Given the description of an element on the screen output the (x, y) to click on. 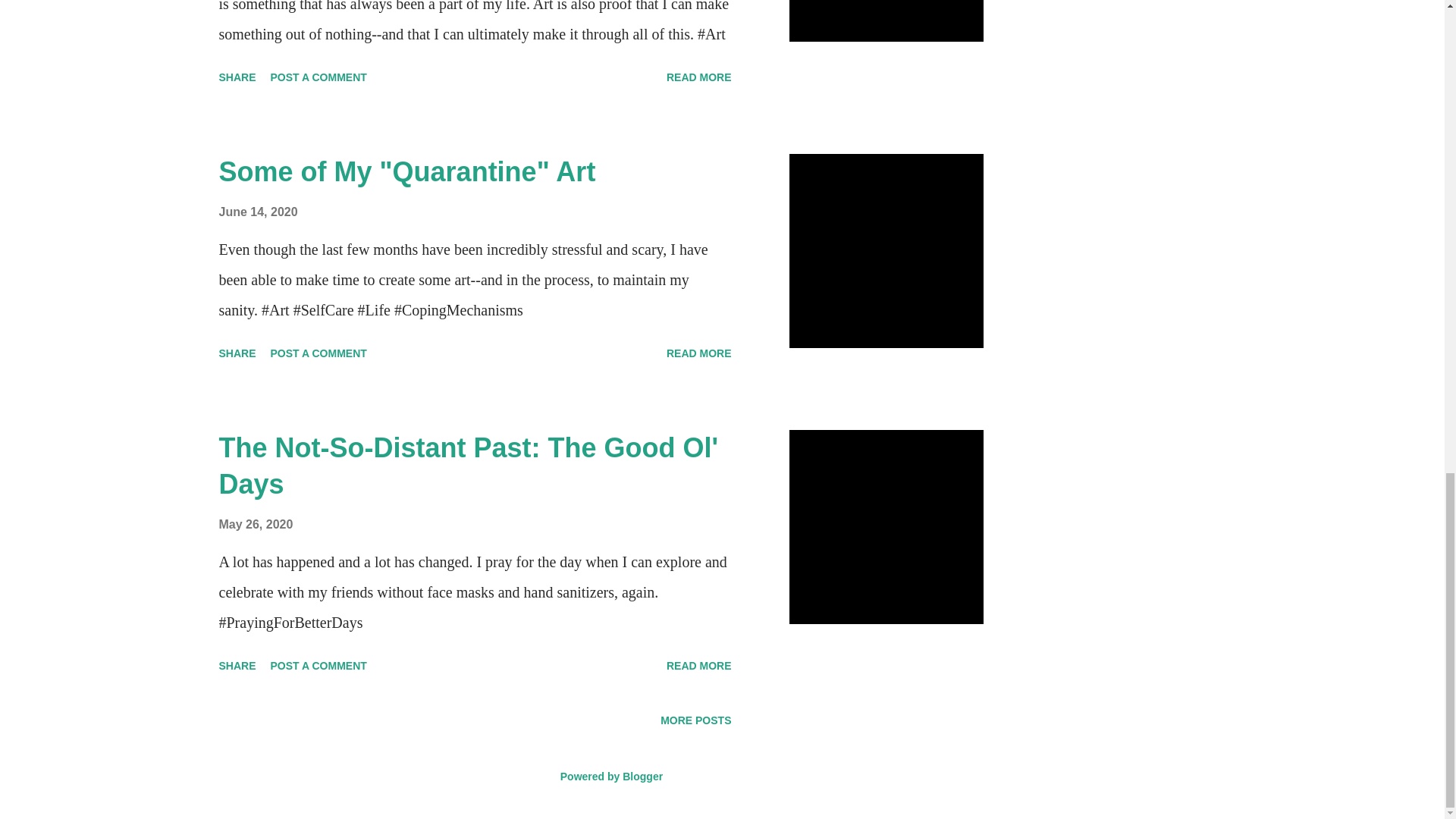
POST A COMMENT (318, 77)
SHARE (237, 353)
READ MORE (699, 77)
June 14, 2020 (257, 211)
POST A COMMENT (318, 353)
SHARE (237, 77)
Some of My "Quarantine" Art (406, 171)
